Given the description of an element on the screen output the (x, y) to click on. 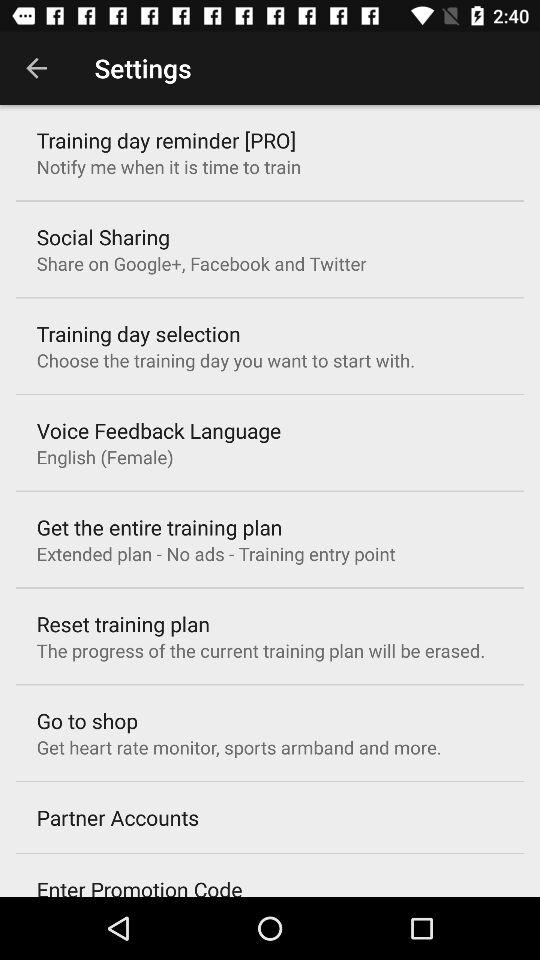
select the icon above the reset training plan (215, 553)
